Given the description of an element on the screen output the (x, y) to click on. 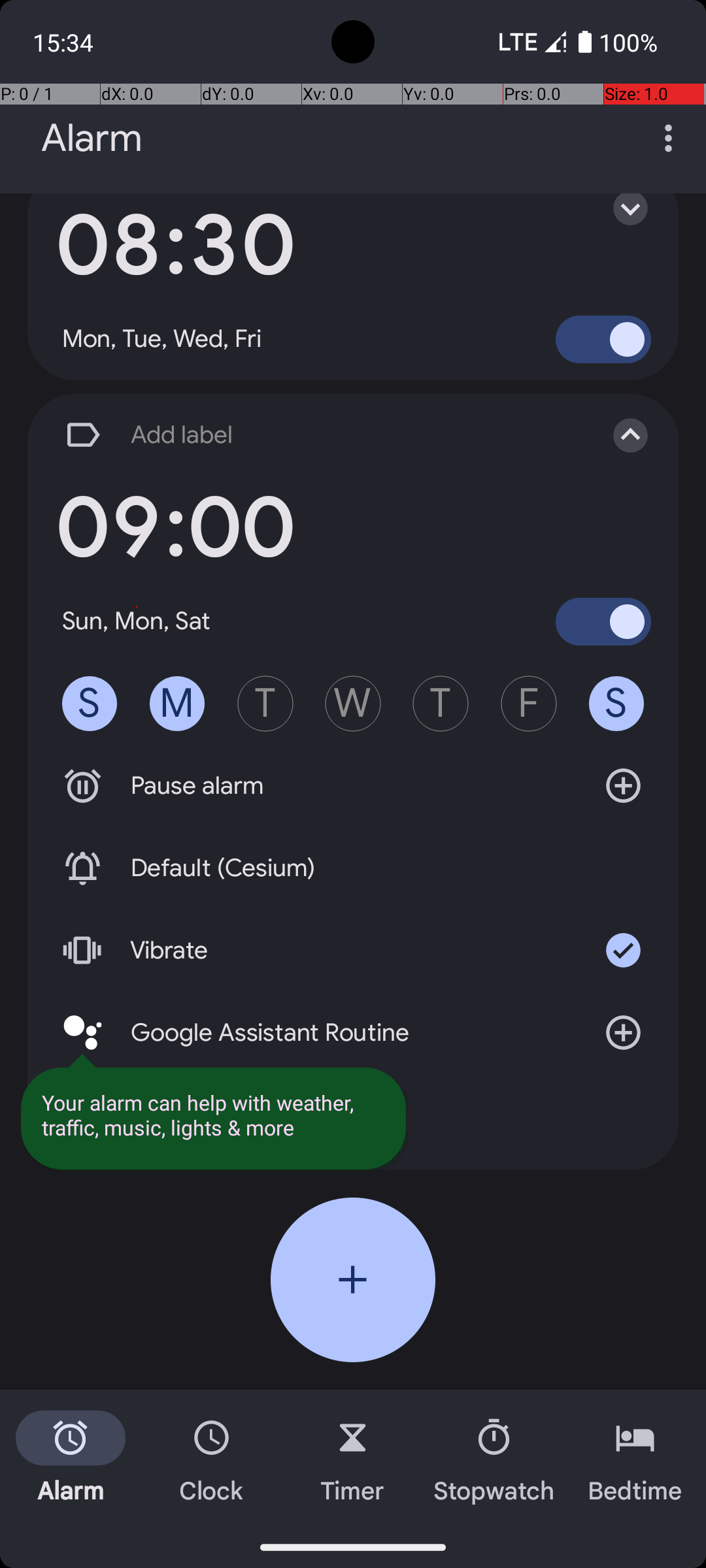
Mon, Tue, Wed, Fri Element type: android.widget.TextView (161, 338)
Add label Element type: android.widget.TextView (318, 434)
Collapse alarm Element type: android.widget.ImageButton (616, 434)
Sun, Mon, Sat Element type: android.widget.TextView (136, 620)
Pause alarm Element type: android.widget.TextView (352, 785)
Google Assistant Routine Element type: android.widget.TextView (352, 1032)
Your alarm can help with weather, traffic, music, lights & more Element type: android.widget.TextView (213, 1114)
